Given the description of an element on the screen output the (x, y) to click on. 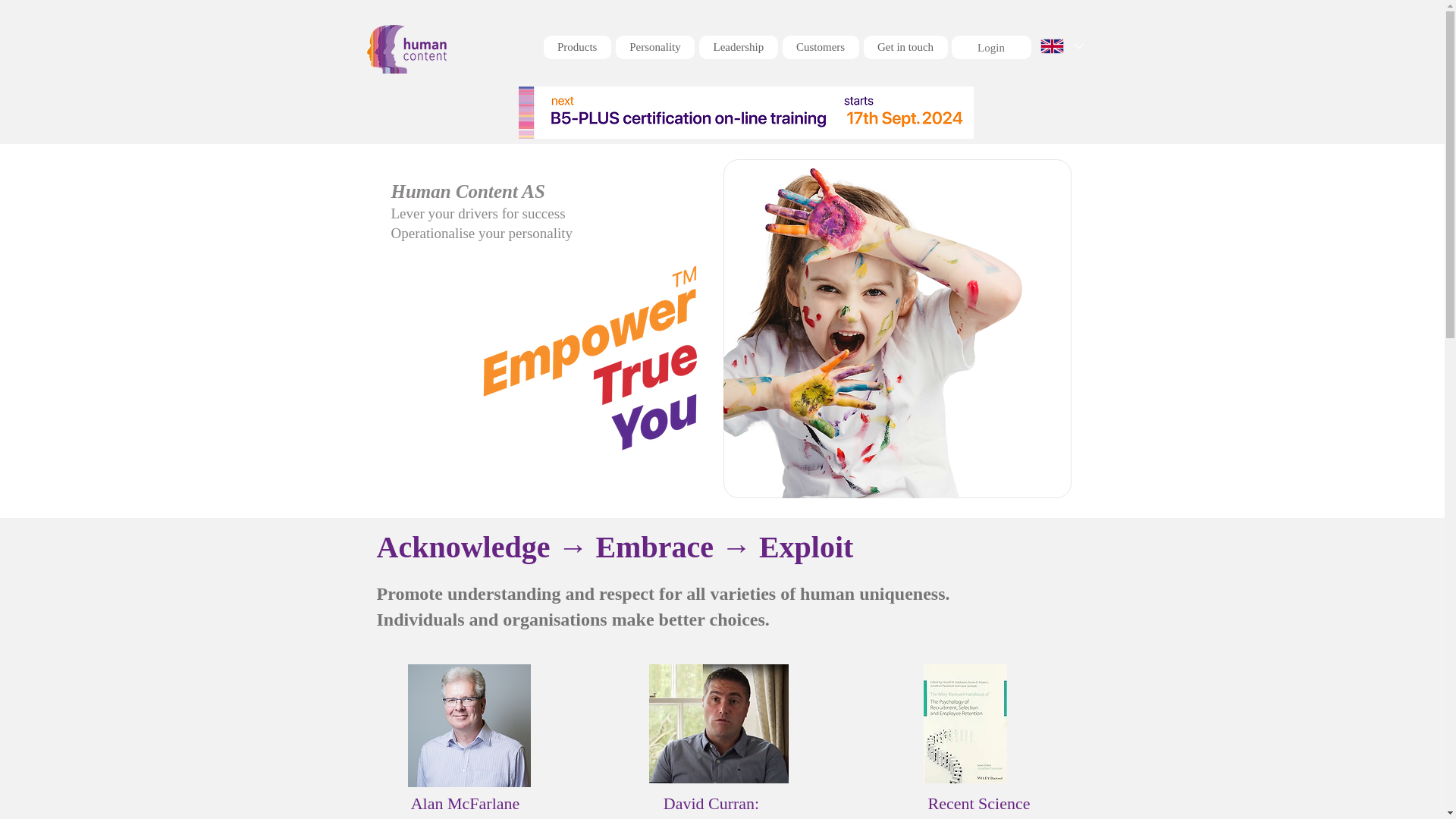
Products (576, 47)
Login (990, 47)
Customers (821, 47)
Leadership (737, 47)
Personality (465, 806)
HumanConen Certification (710, 806)
Get in touch (654, 47)
